Given the description of an element on the screen output the (x, y) to click on. 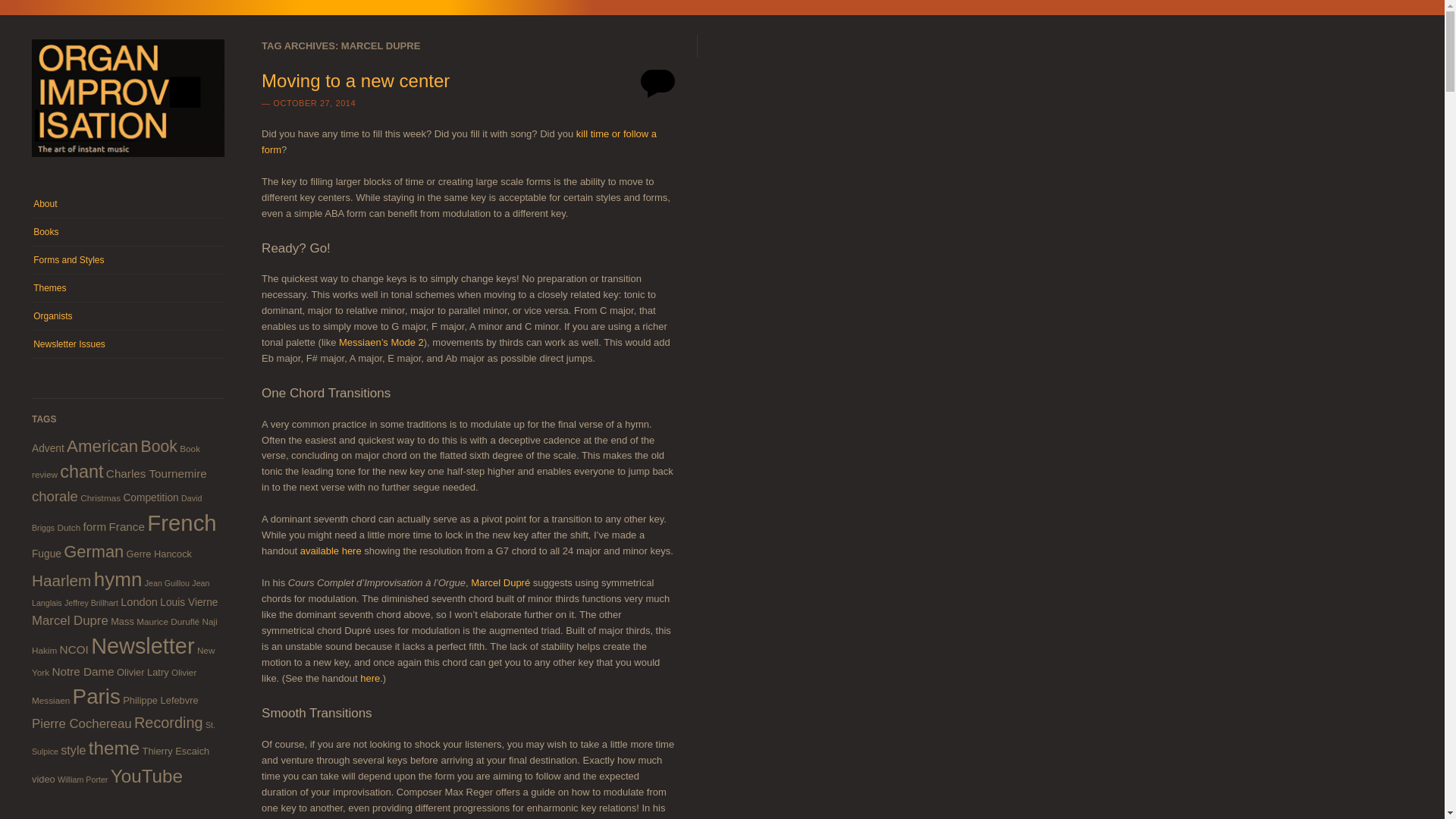
About (128, 203)
Advent (48, 448)
Skip to content (61, 197)
German (93, 551)
Books (128, 231)
Themes (128, 288)
Dutch (69, 527)
Book review (116, 461)
Jeffrey Brillhart (90, 602)
Christmas (100, 497)
